Given the description of an element on the screen output the (x, y) to click on. 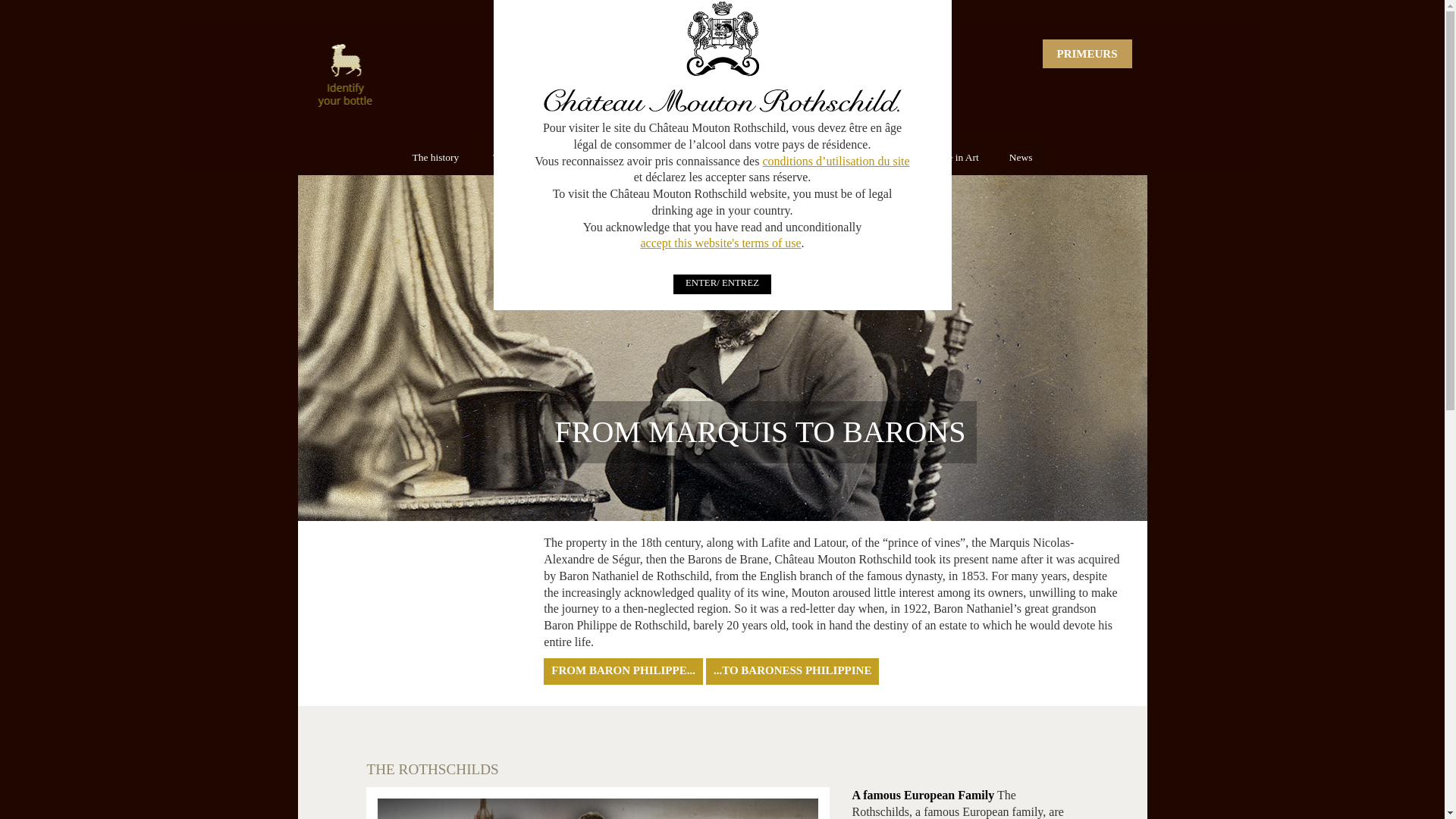
The Museum of Wine in Art (920, 157)
Vintages (684, 157)
...TO BARONESS PHILIPPINE (792, 671)
PRIMEURS (1086, 53)
FROM BARON PHILIPPE... (623, 671)
Paintings for the Labels (784, 157)
News (1021, 157)
Identify your bottle (345, 77)
The vineyard (521, 157)
The history (436, 157)
